Given the description of an element on the screen output the (x, y) to click on. 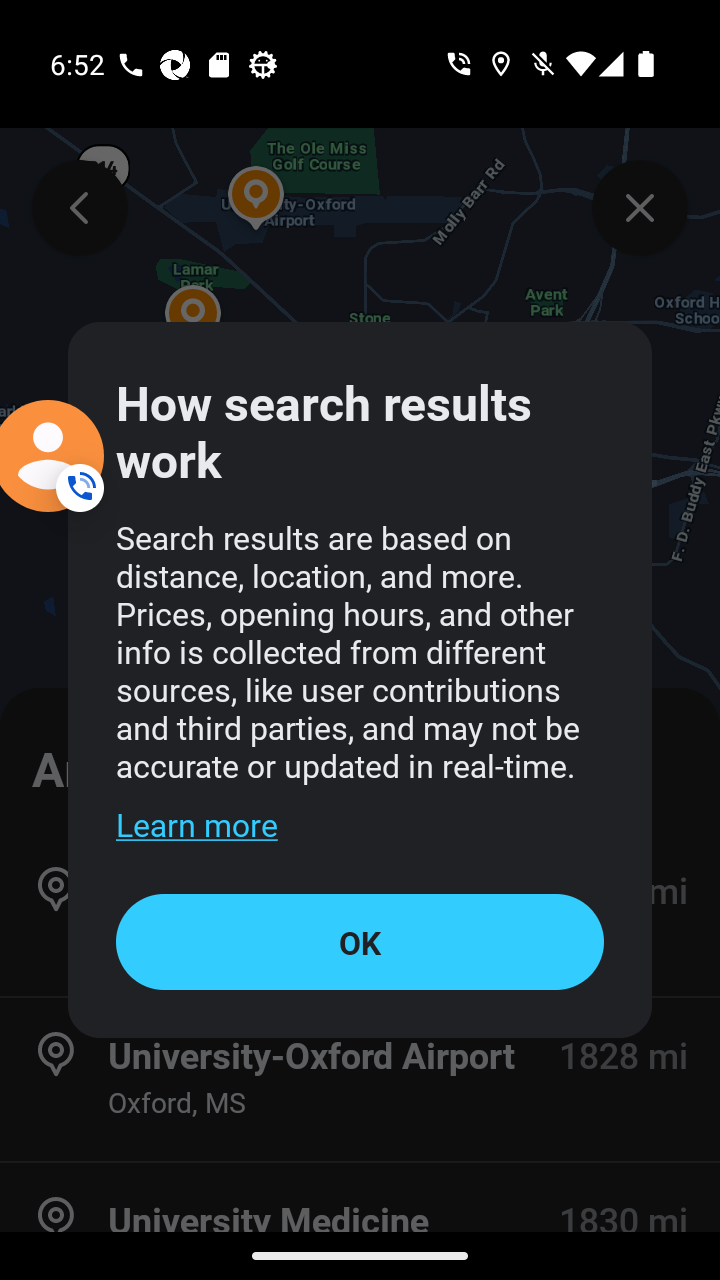
Learn more (196, 824)
OK (359, 941)
